Given the description of an element on the screen output the (x, y) to click on. 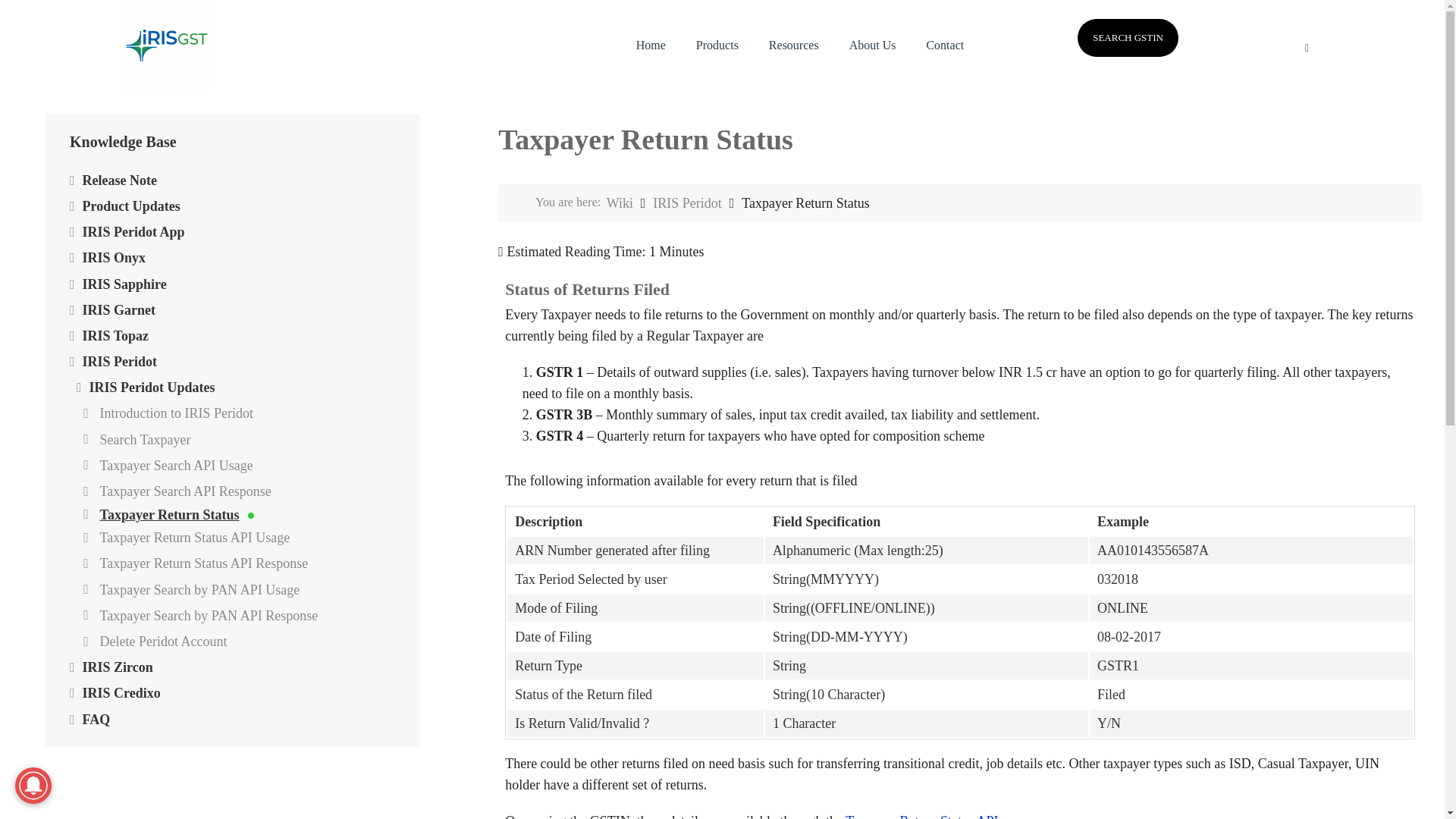
Home (651, 45)
Products (717, 45)
SEARCH GSTIN (1127, 37)
About Us (872, 45)
Contact (944, 45)
Resources (794, 45)
